Given the description of an element on the screen output the (x, y) to click on. 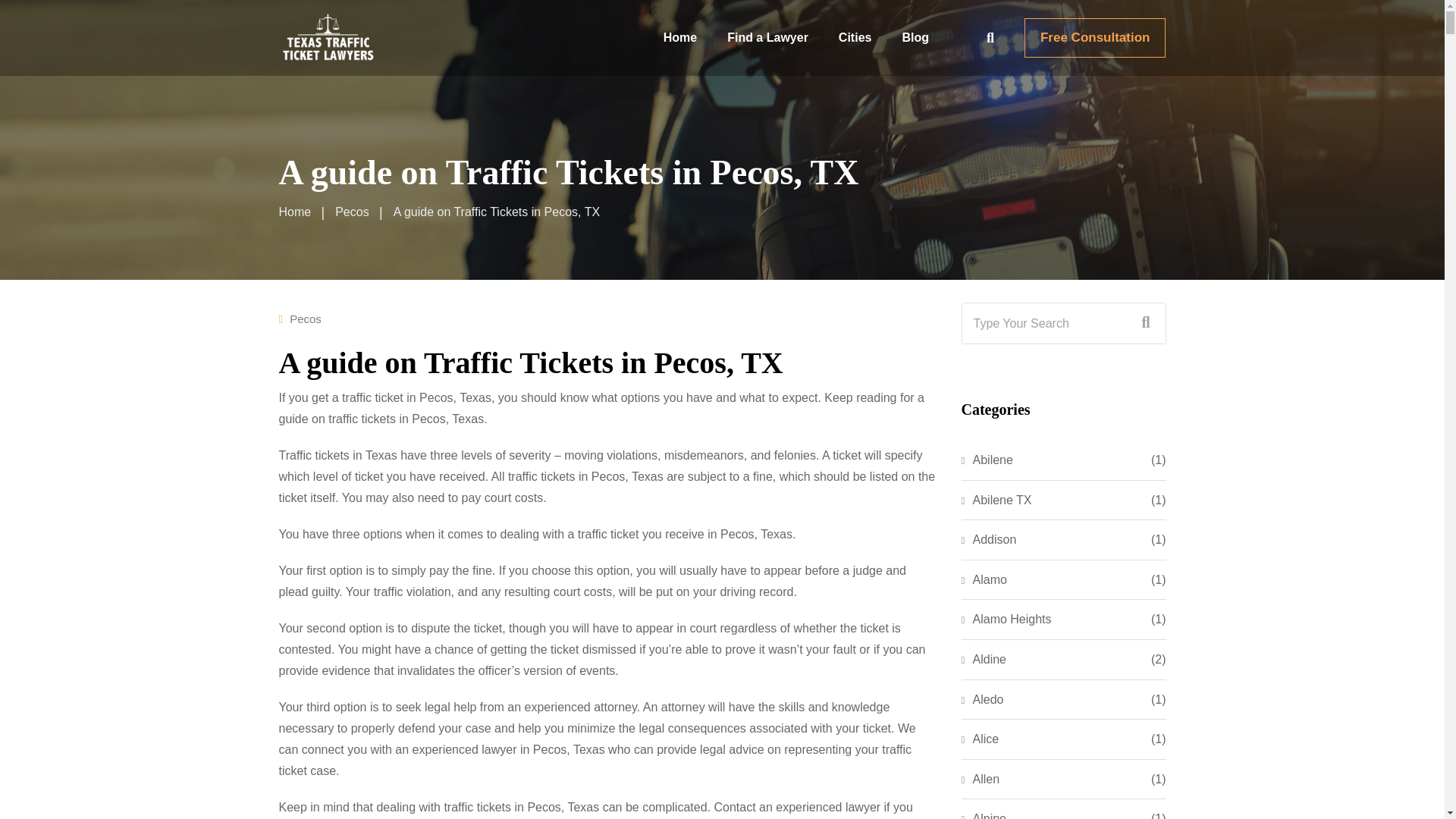
Abilene TX (996, 500)
Alamo Heights (1005, 619)
Allen (980, 779)
Find a Lawyer (767, 38)
Free Consultation (1095, 37)
Alpine (983, 814)
Alice (979, 739)
Home (295, 211)
Aledo (982, 700)
Addison (988, 539)
